Given the description of an element on the screen output the (x, y) to click on. 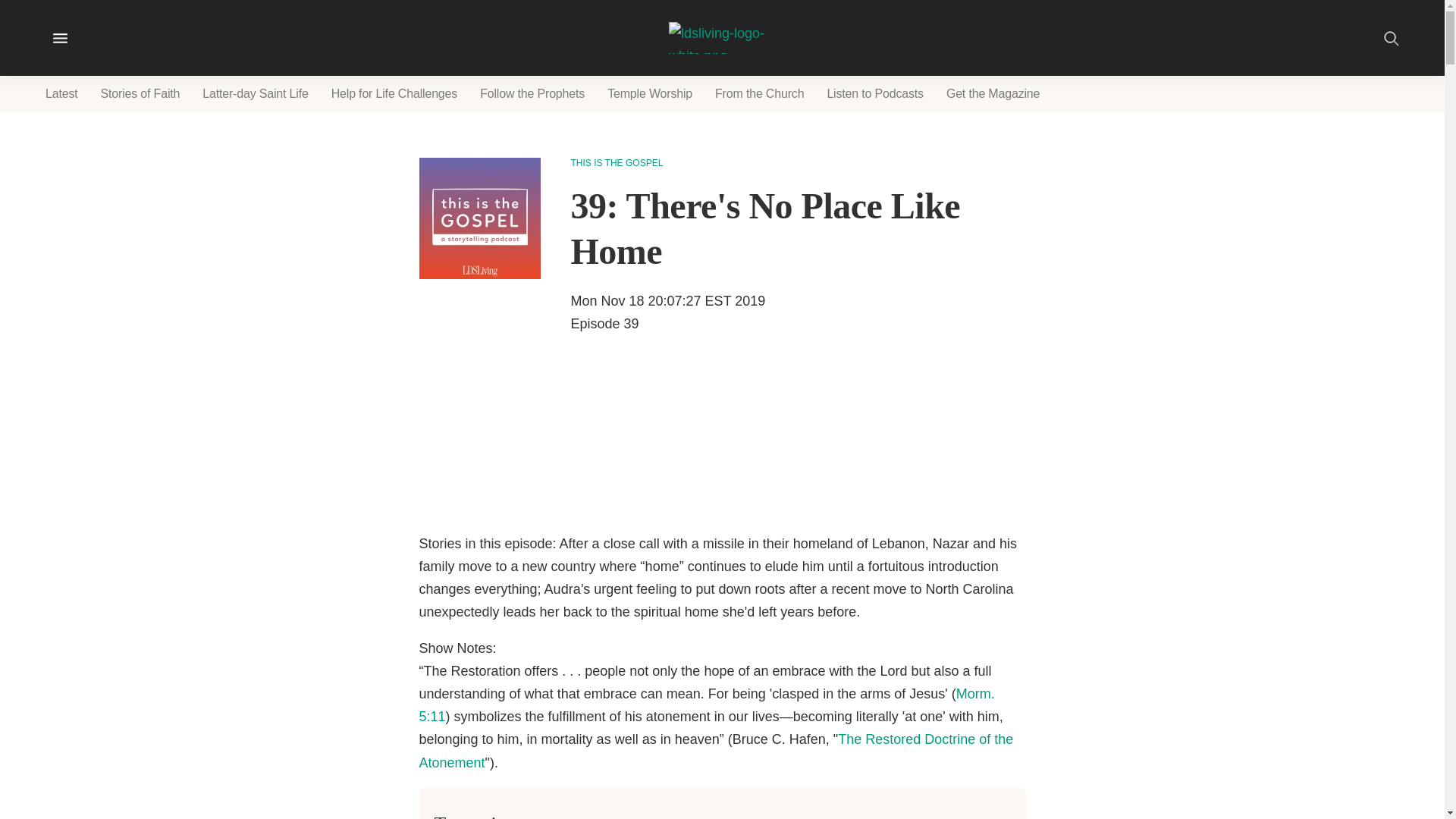
Temple Worship (649, 94)
The Restored Doctrine of the Atonement (716, 750)
Latter-day Saint Life (255, 94)
Stories of Faith (140, 94)
Get the Magazine (992, 94)
From the Church (758, 94)
Help for Life Challenges (393, 94)
Follow the Prophets (531, 94)
Latest (61, 94)
Menu (59, 37)
